Given the description of an element on the screen output the (x, y) to click on. 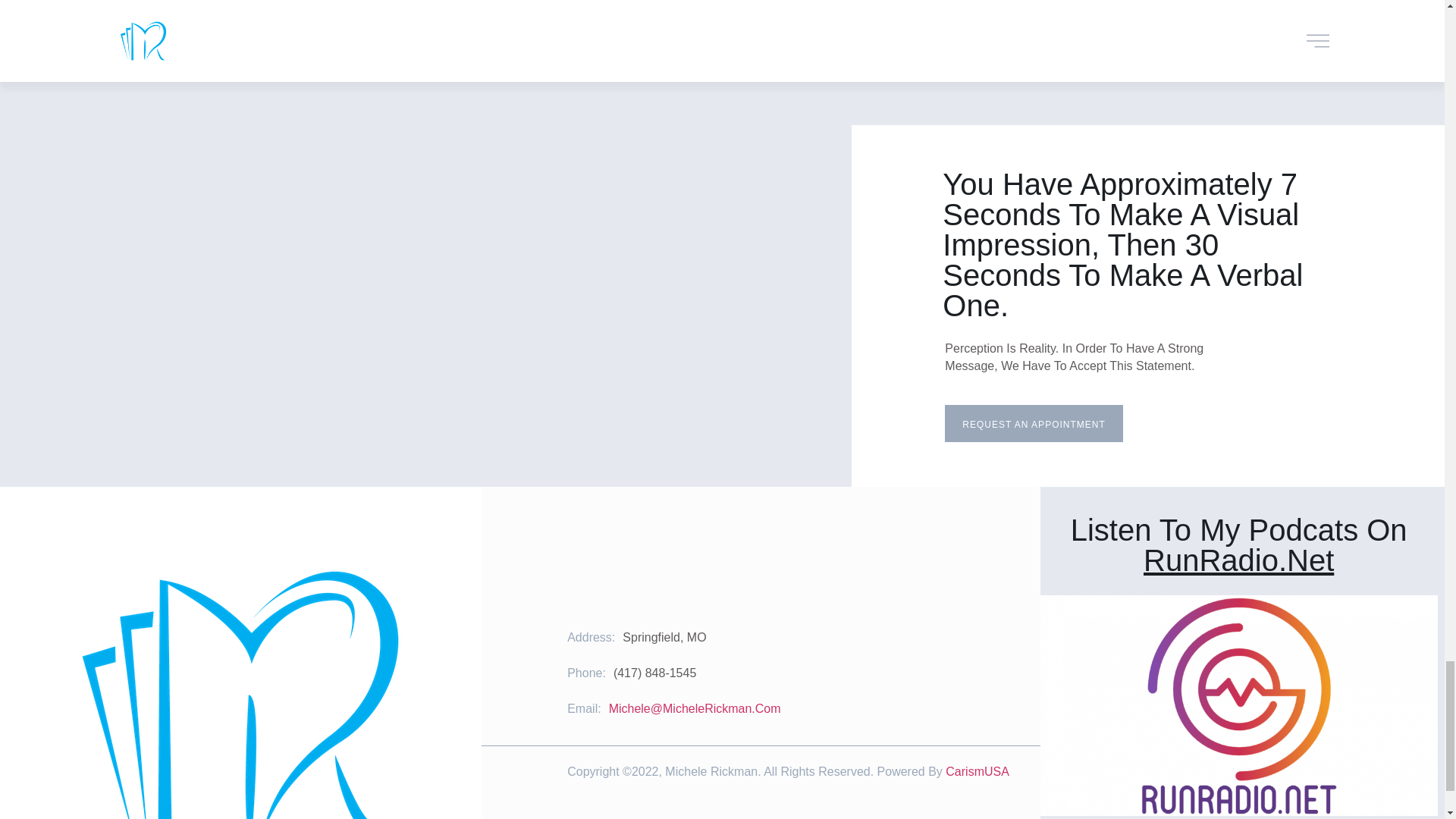
REQUEST AN APPOINTMENT (1033, 423)
CarismUSA (976, 771)
Listen To My Podcats On RunRadio.Net (1238, 545)
